Given the description of an element on the screen output the (x, y) to click on. 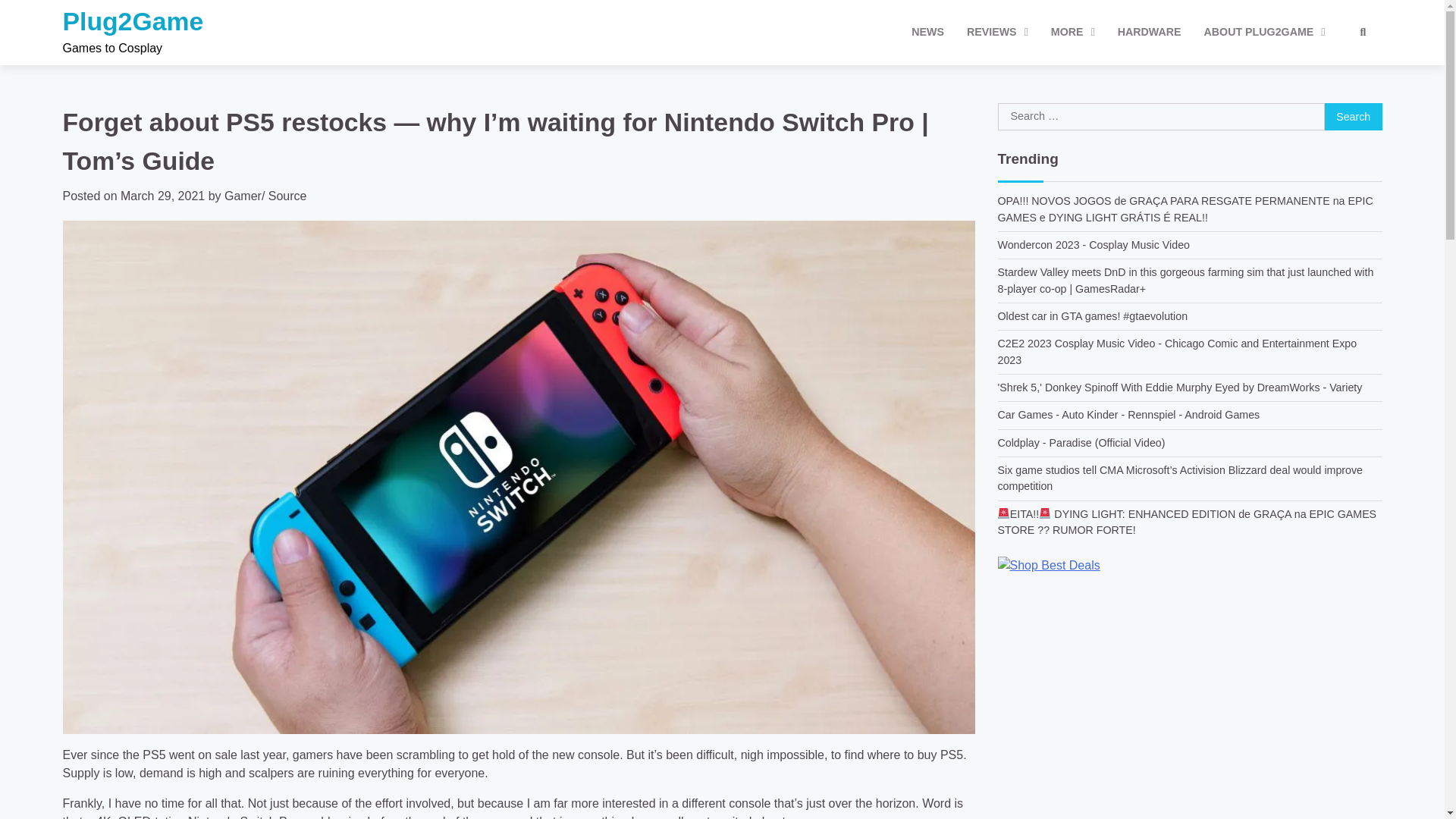
HARDWARE (1149, 32)
Search (1362, 32)
REVIEWS (997, 32)
March 29, 2021 (162, 195)
Search (1352, 116)
ABOUT PLUG2GAME (1264, 32)
Search (1352, 116)
MORE (1072, 32)
NEWS (927, 32)
Search (1334, 71)
Plug2Game (132, 21)
